Given the description of an element on the screen output the (x, y) to click on. 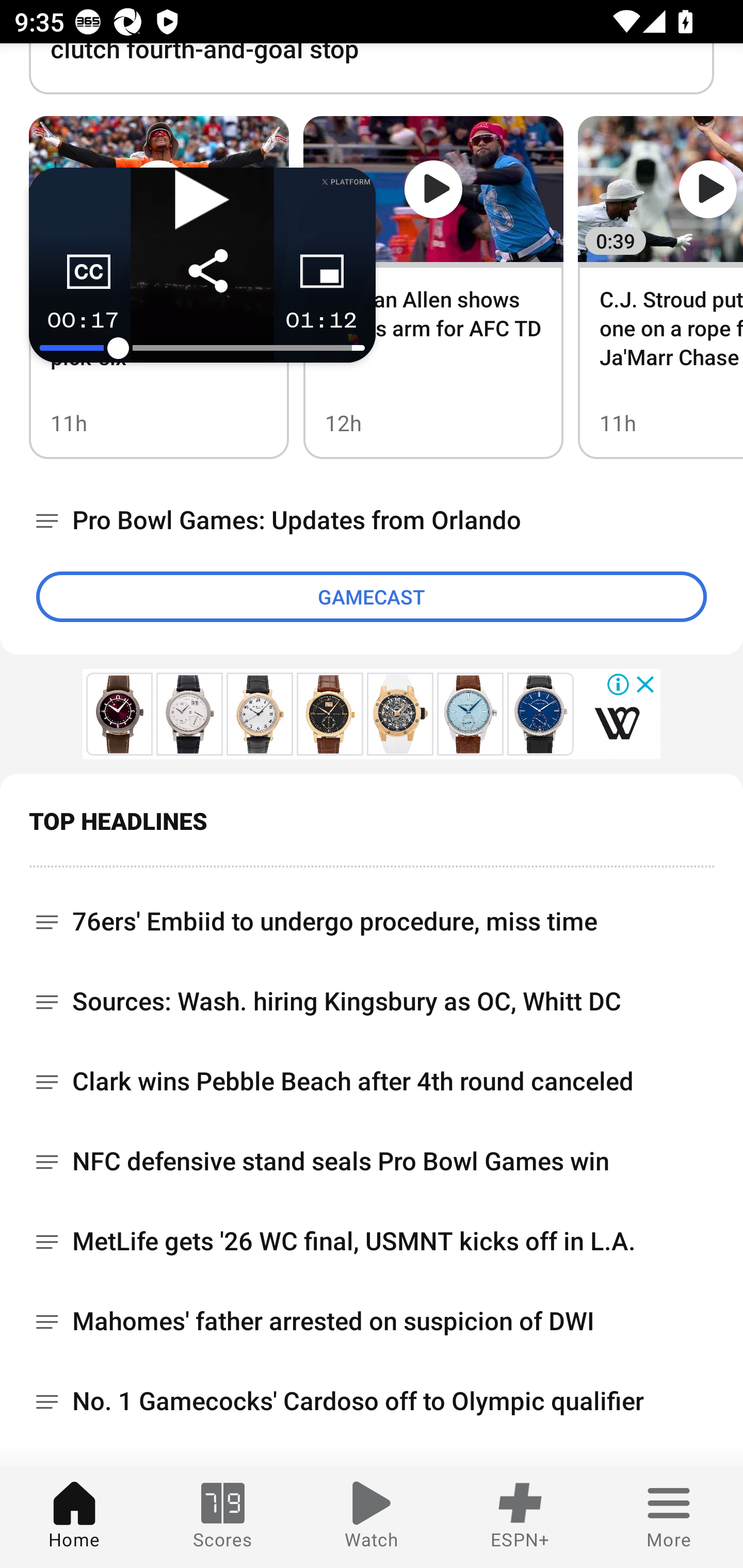
 Pro Bowl Games: Updates from Orlando (371, 521)
GAMECAST (371, 596)
4918025 (118, 713)
4933172 (188, 713)
4825881 (259, 713)
4887386 (329, 713)
4906442 (400, 713)
4758132 (470, 713)
4796256 (540, 713)
4918025 (616, 723)
 76ers' Embiid to undergo procedure, miss time (371, 914)
 Sources: Wash. hiring Kingsbury as OC, Whitt DC (371, 1001)
 Clark wins Pebble Beach after 4th round canceled (371, 1081)
 NFC defensive stand seals Pro Bowl Games win (371, 1161)
 Mahomes' father arrested on suspicion of DWI (371, 1321)
Scores (222, 1517)
Watch (371, 1517)
ESPN+ (519, 1517)
More (668, 1517)
